Given the description of an element on the screen output the (x, y) to click on. 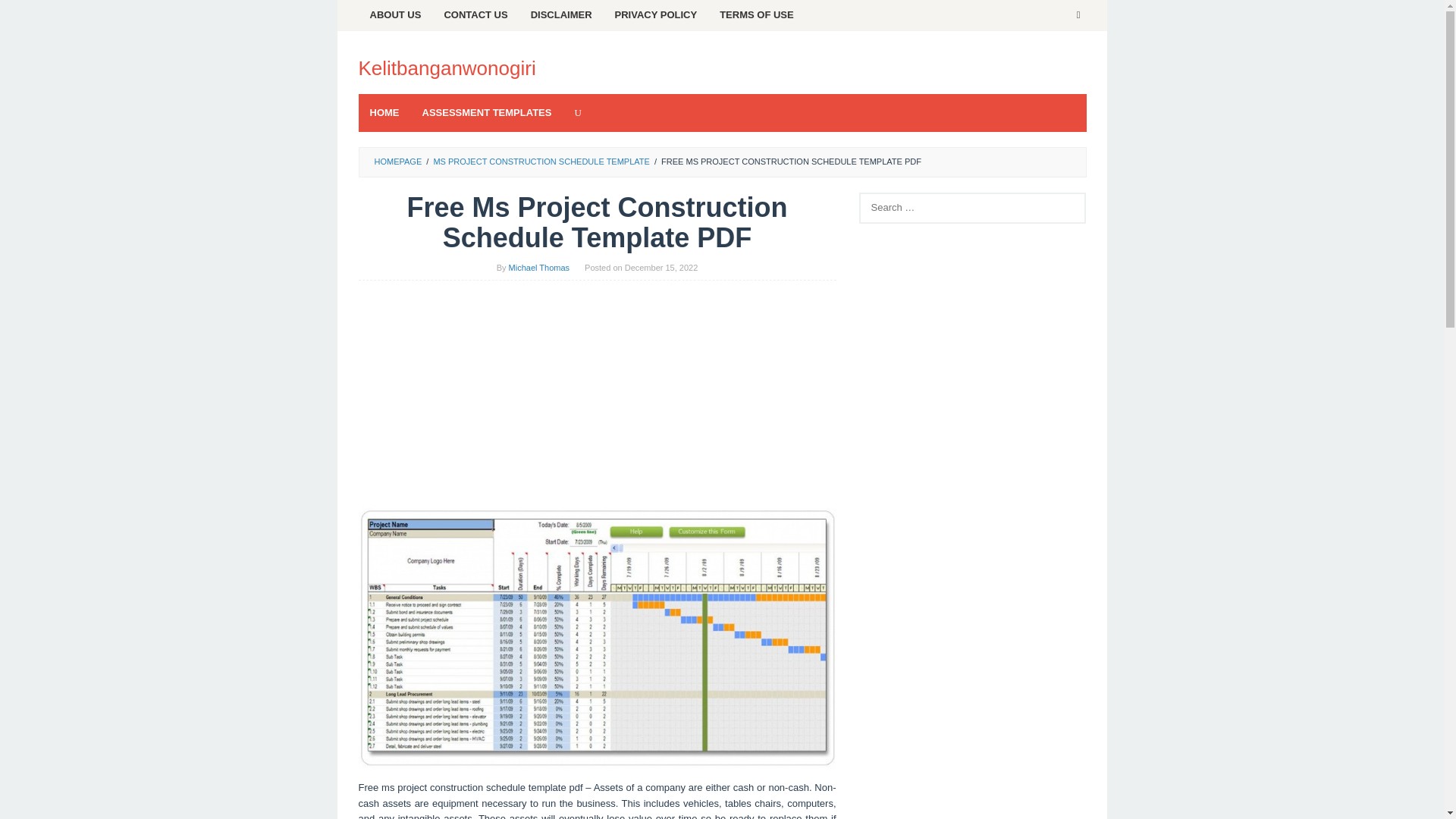
ASSESSMENT TEMPLATES (486, 112)
PRIVACY POLICY (656, 15)
Advertisement (596, 401)
Search (27, 15)
HOME (384, 112)
ABOUT US (395, 15)
MS PROJECT CONSTRUCTION SCHEDULE TEMPLATE (540, 161)
Kelitbanganwonogiri (446, 67)
Advertisement (972, 780)
Permalink to: Michael Thomas (539, 266)
